Given the description of an element on the screen output the (x, y) to click on. 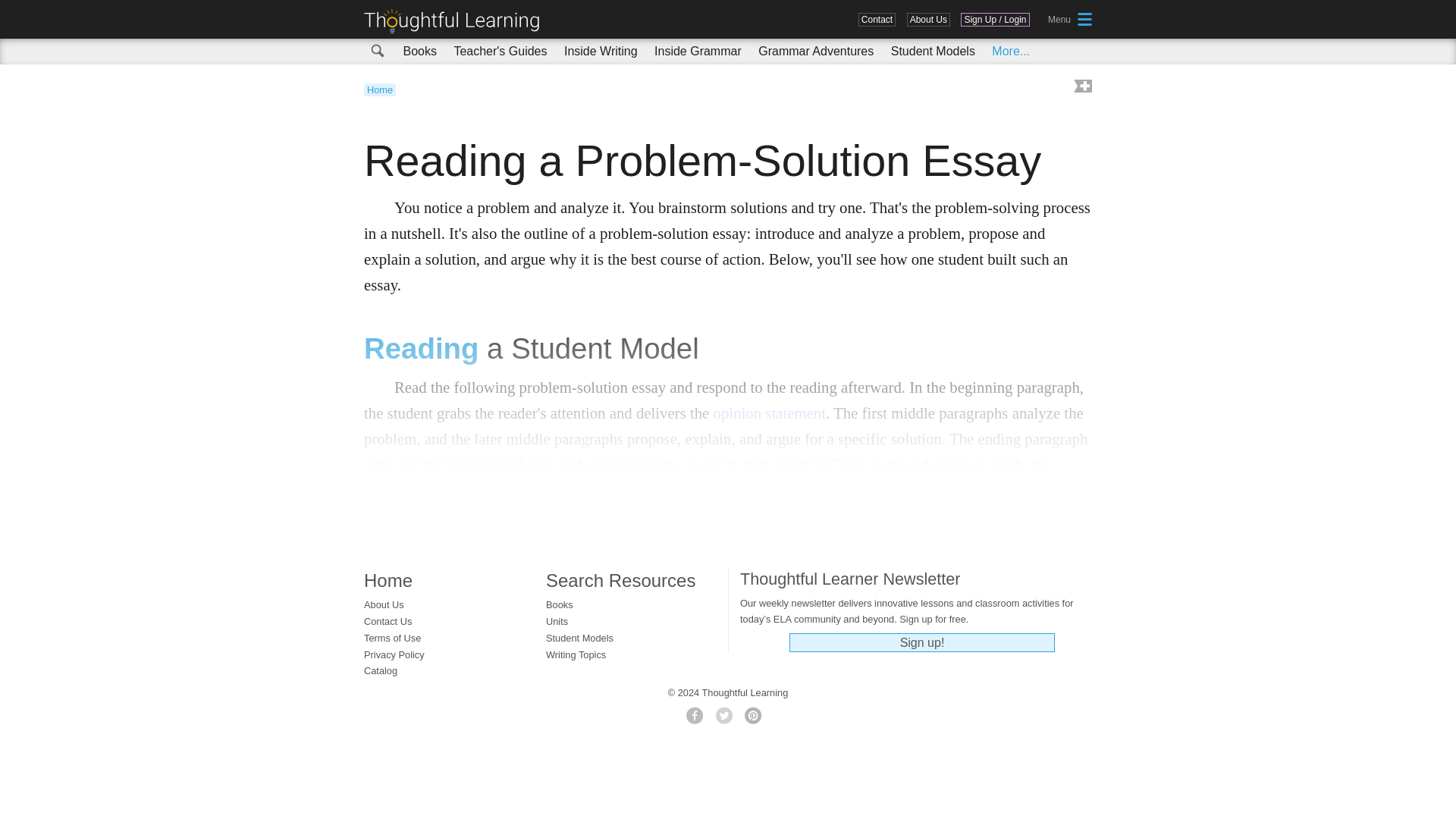
Contact Us (877, 19)
More... (1010, 50)
Inside Writing (601, 50)
About Us (928, 19)
Inside Grammar (697, 50)
Bookmark (1081, 87)
Search all of our resources (378, 51)
Home (380, 89)
Sign Up or Login Here (994, 19)
Student Models (932, 50)
Grammar Adventures (815, 50)
Contact (877, 19)
Free Online Teacher's Guides (499, 50)
Home (457, 21)
Books (419, 50)
